Given the description of an element on the screen output the (x, y) to click on. 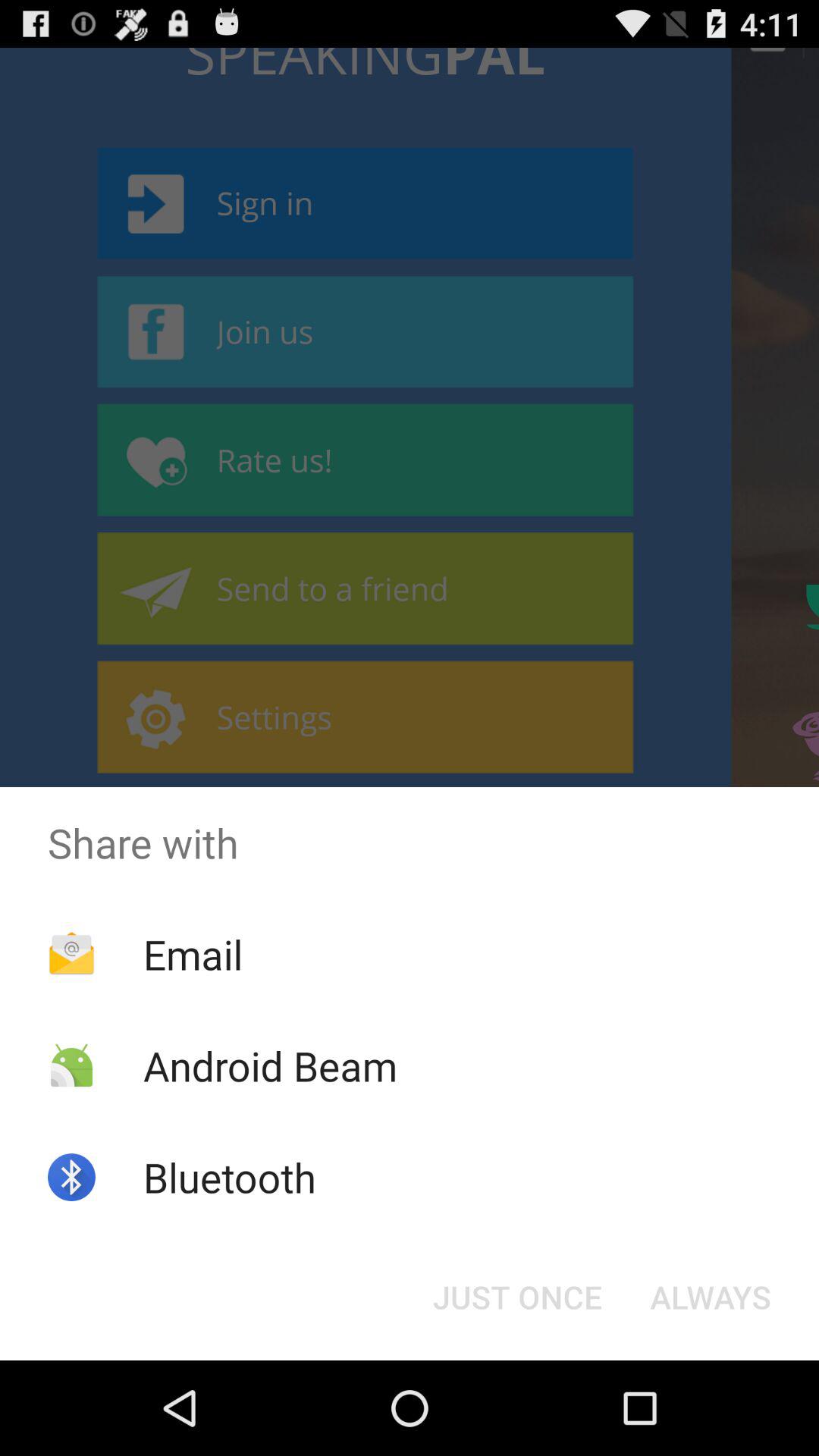
press the app above android beam app (192, 953)
